Given the description of an element on the screen output the (x, y) to click on. 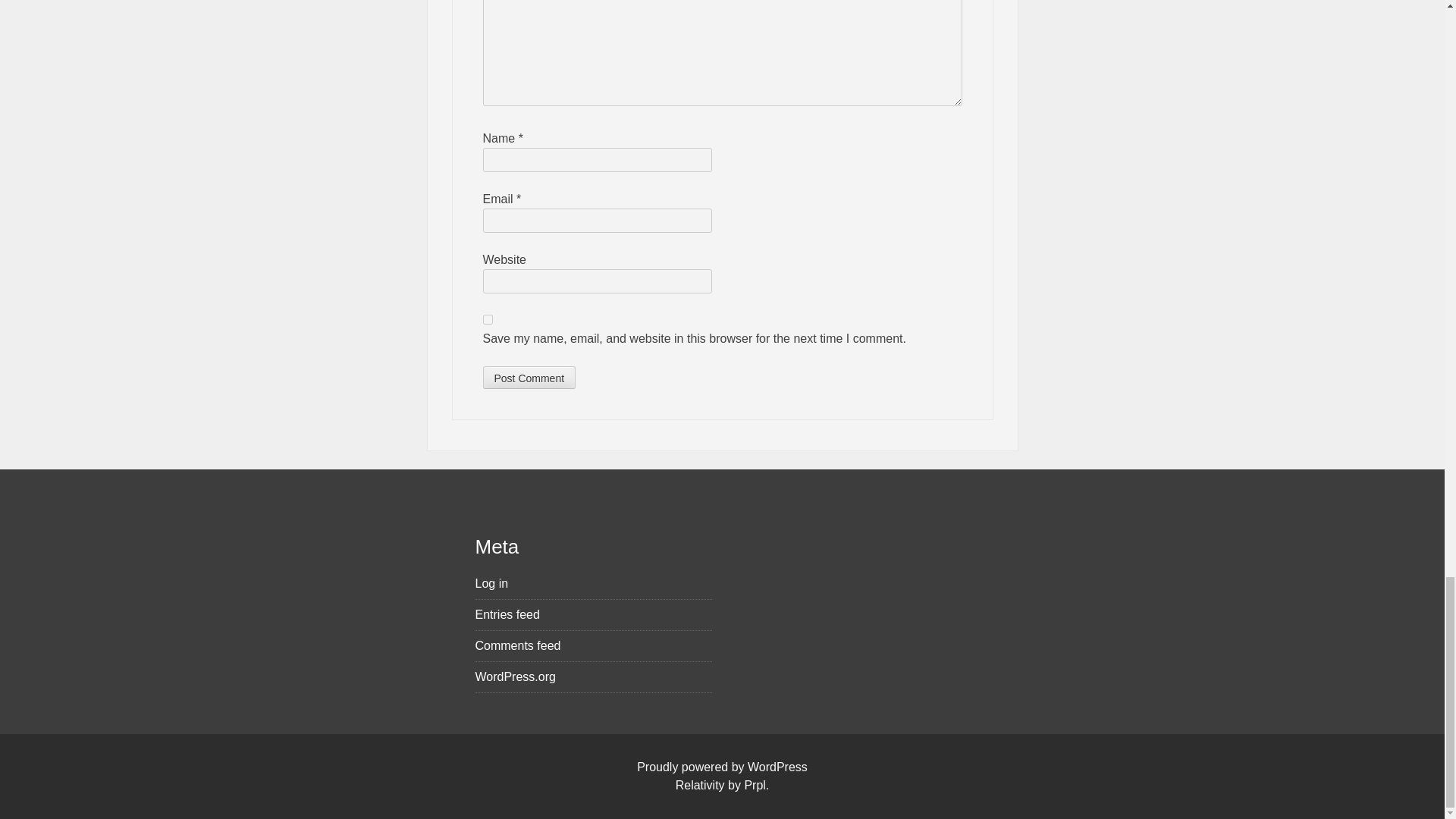
yes (486, 319)
Comments feed (592, 646)
Proudly powered by WordPress (722, 766)
Relativity (700, 784)
Prpl (754, 784)
Post Comment (528, 377)
WordPress.org (592, 677)
Post Comment (528, 377)
Entries feed (592, 615)
Log in (592, 583)
